Given the description of an element on the screen output the (x, y) to click on. 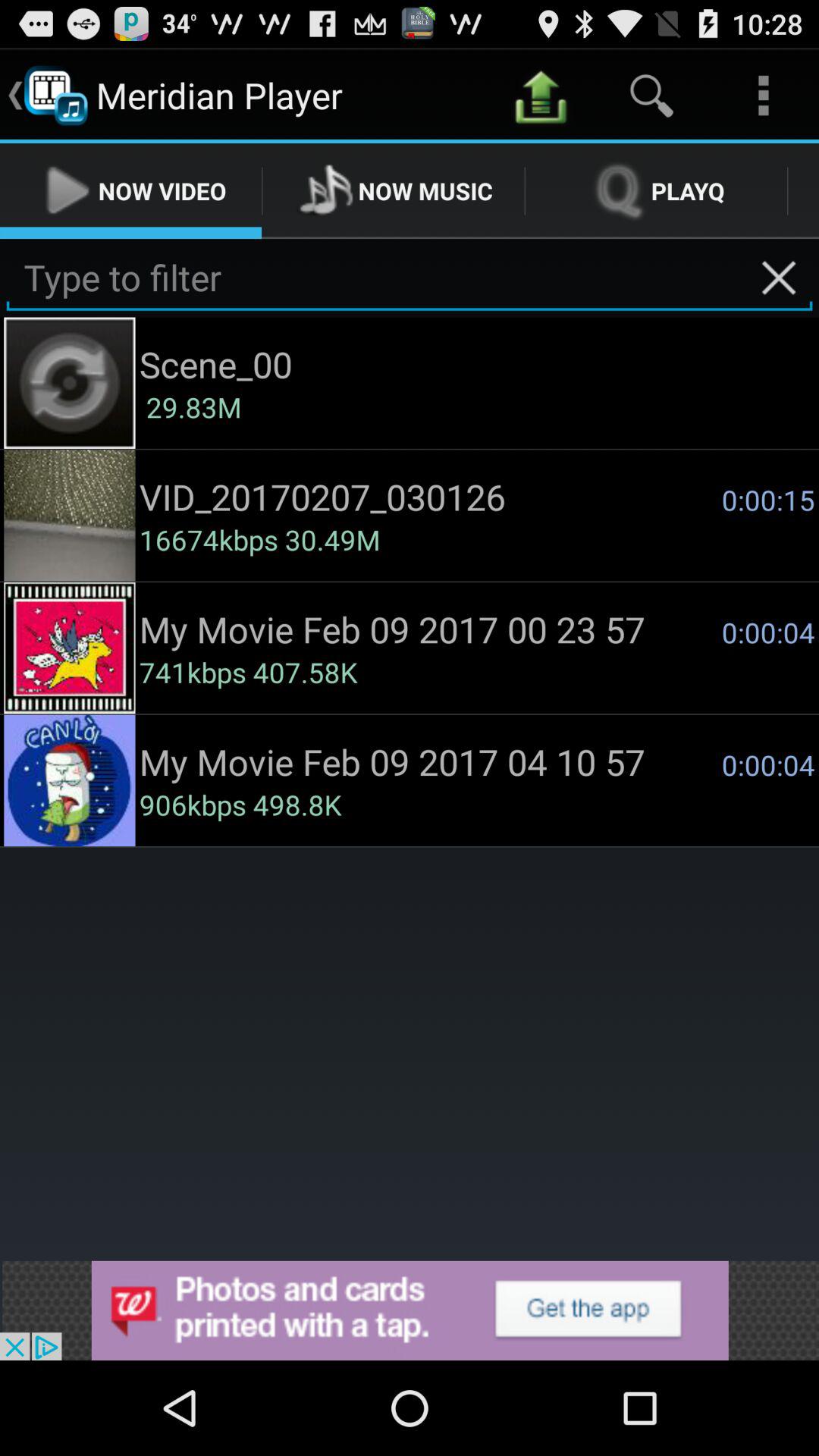
visit advertisement (409, 1310)
